Given the description of an element on the screen output the (x, y) to click on. 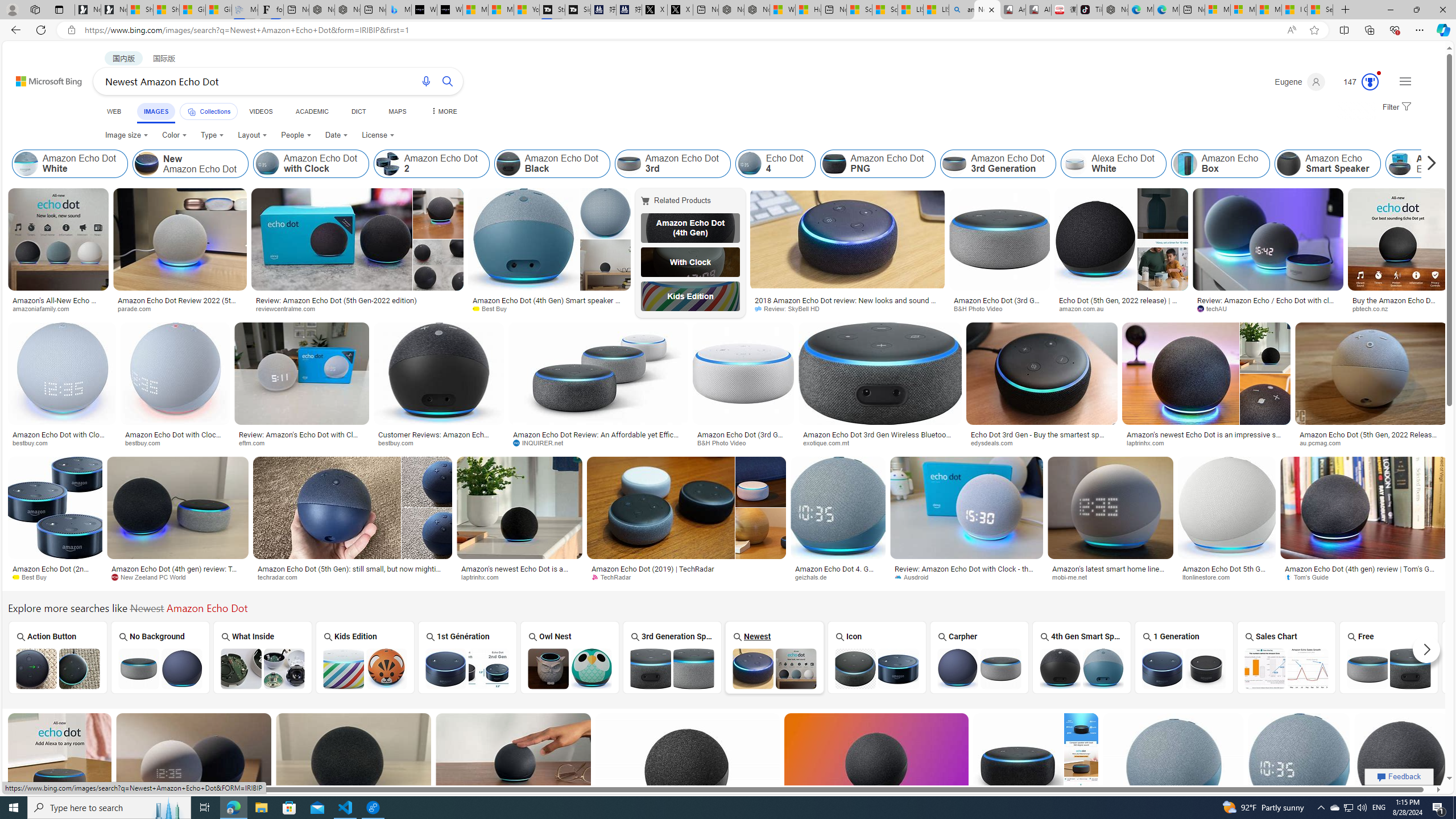
laptrinhx.com (519, 576)
New Amazon Echo Dot (189, 163)
Dropdown Menu (443, 111)
mobi-me.net (1110, 576)
Layout (253, 135)
Action Button (56, 656)
